Given the description of an element on the screen output the (x, y) to click on. 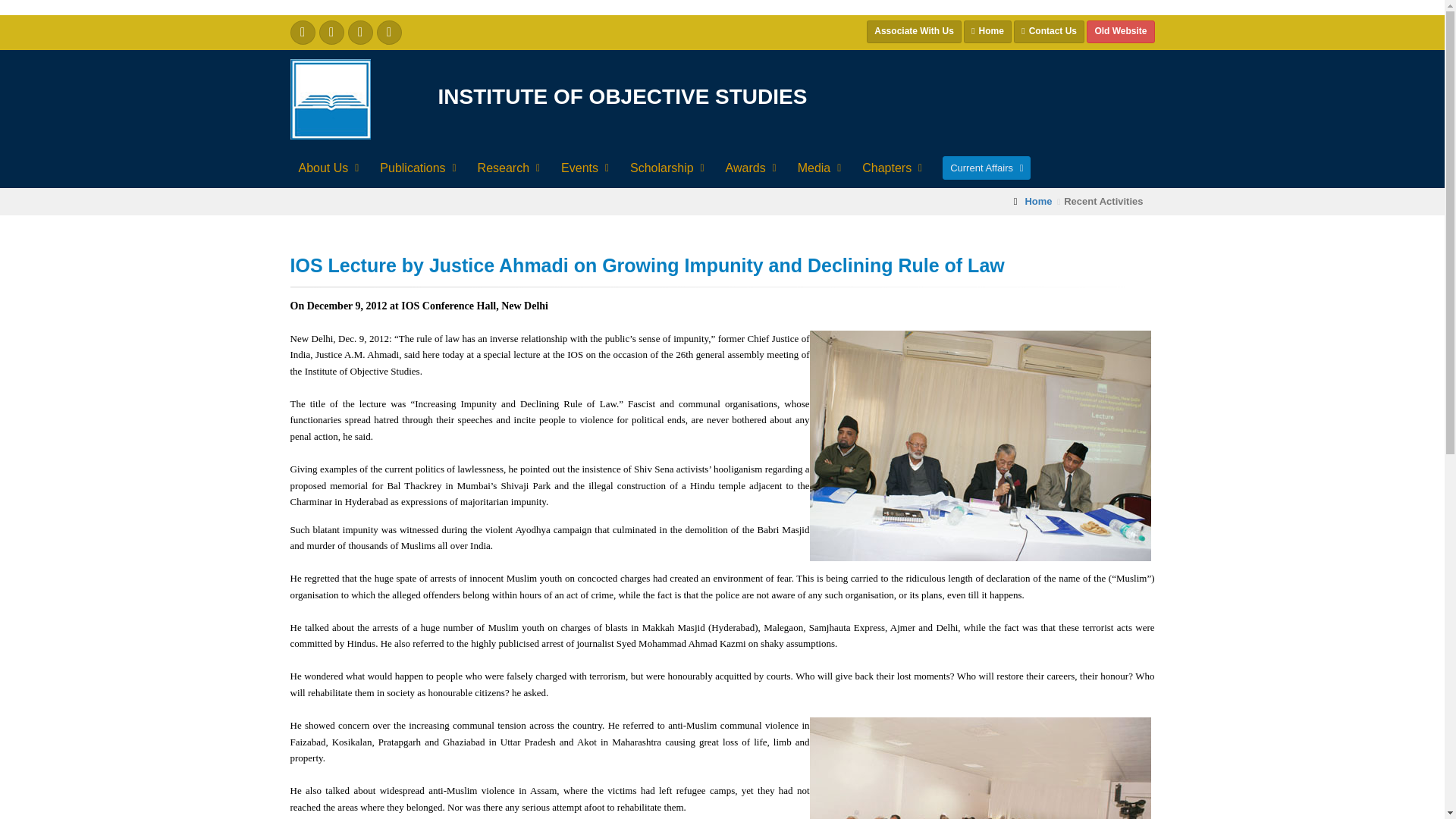
Publications (416, 168)
Old Website (1120, 31)
About Us (326, 168)
Home (987, 31)
Contact Us (1048, 31)
Associate With Us (913, 31)
